Given the description of an element on the screen output the (x, y) to click on. 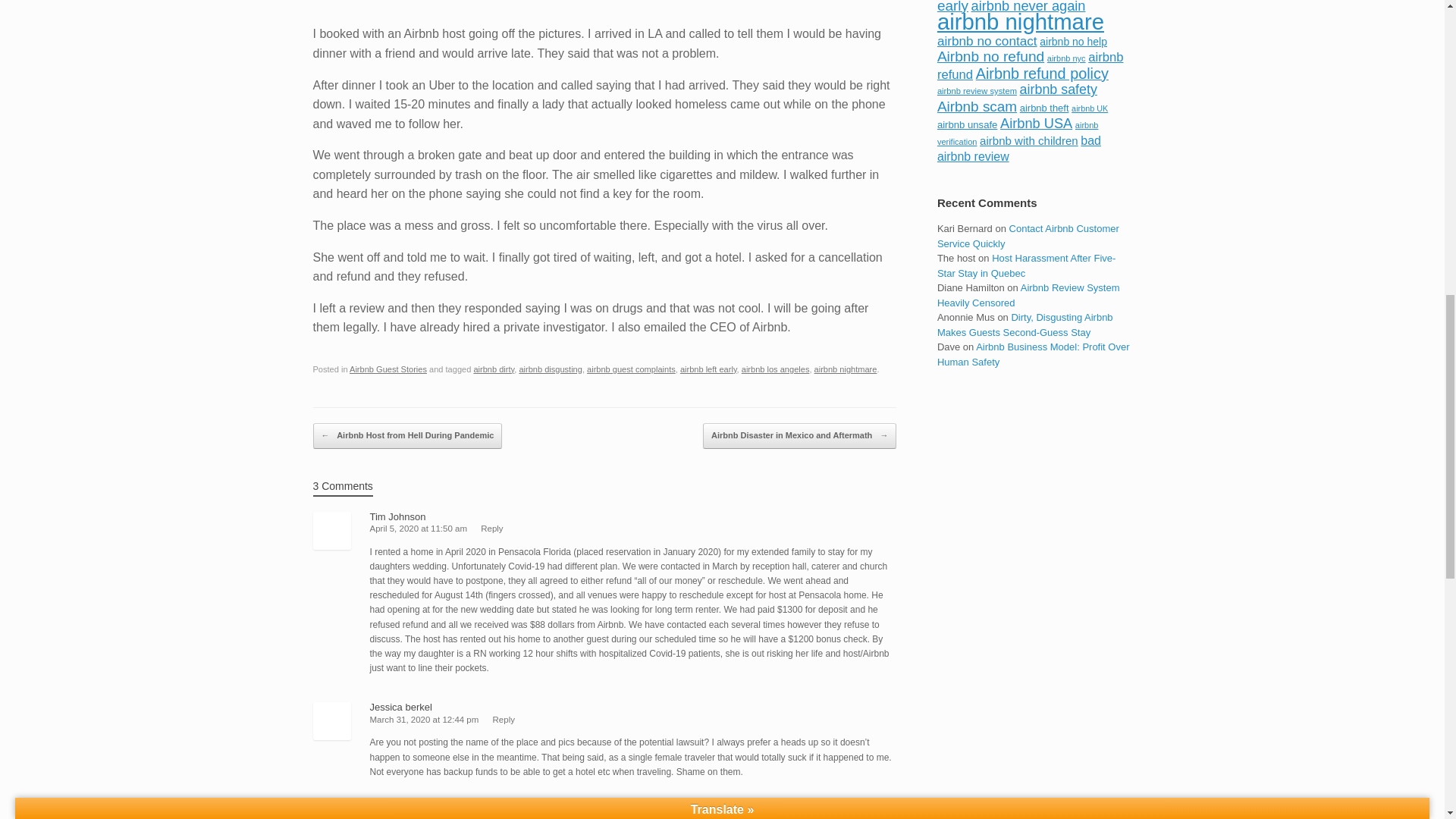
Airbnb Guest Stories (387, 368)
airbnb los angeles (775, 368)
airbnb nightmare (845, 368)
airbnb guest complaints (630, 368)
airbnb left early (707, 368)
Tim Johnson (397, 516)
airbnb dirty (493, 368)
airbnb disgusting (550, 368)
